Given the description of an element on the screen output the (x, y) to click on. 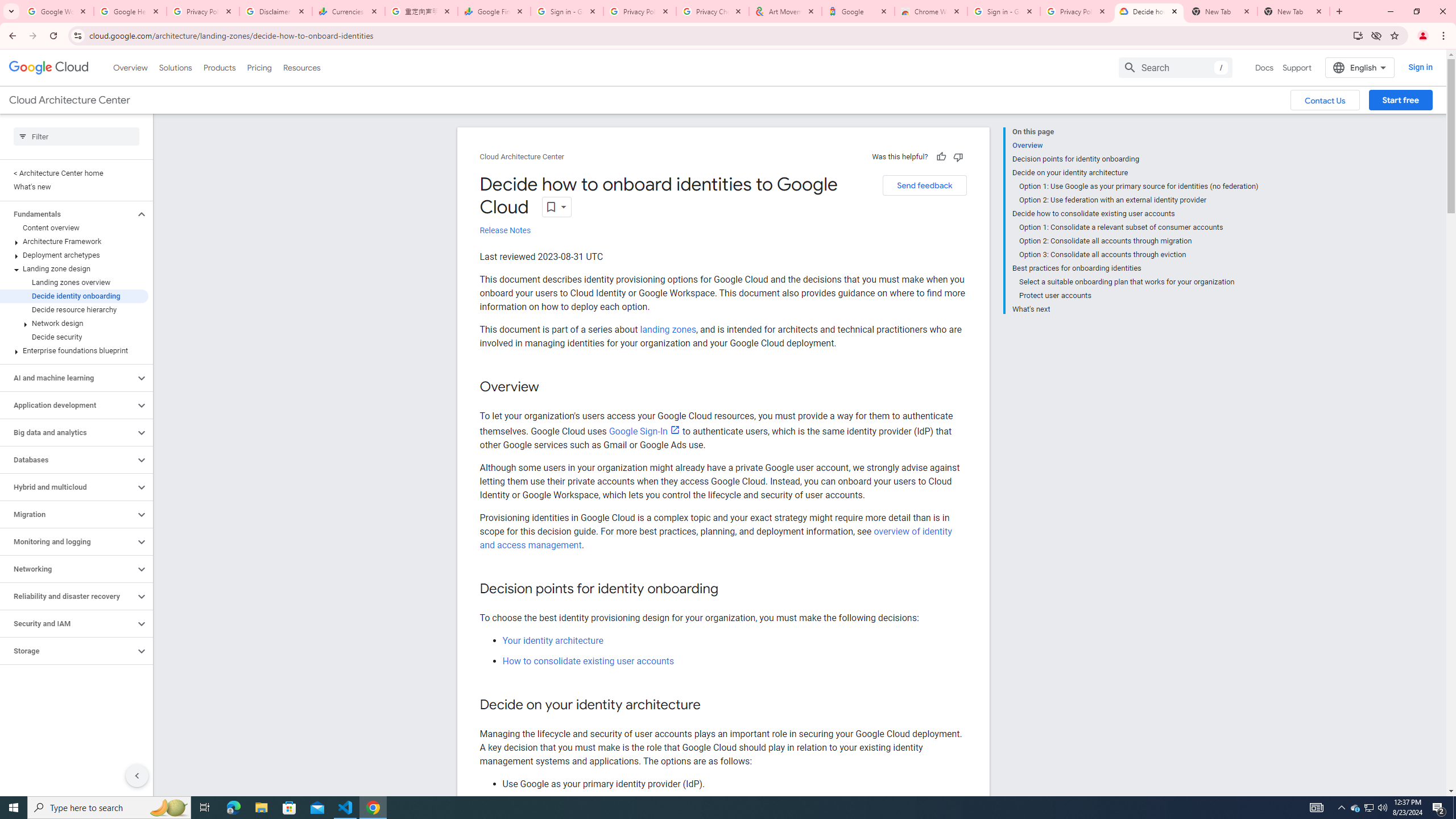
Cloud Architecture Center (521, 156)
Big data and analytics (67, 432)
Products (218, 67)
How to consolidate existing user accounts (588, 661)
Landing zones overview (74, 282)
Network design (74, 323)
Your identity architecture (552, 640)
Decide resource hierarchy (74, 309)
Google Workspace Admin Community (57, 11)
Resources (301, 67)
